Given the description of an element on the screen output the (x, y) to click on. 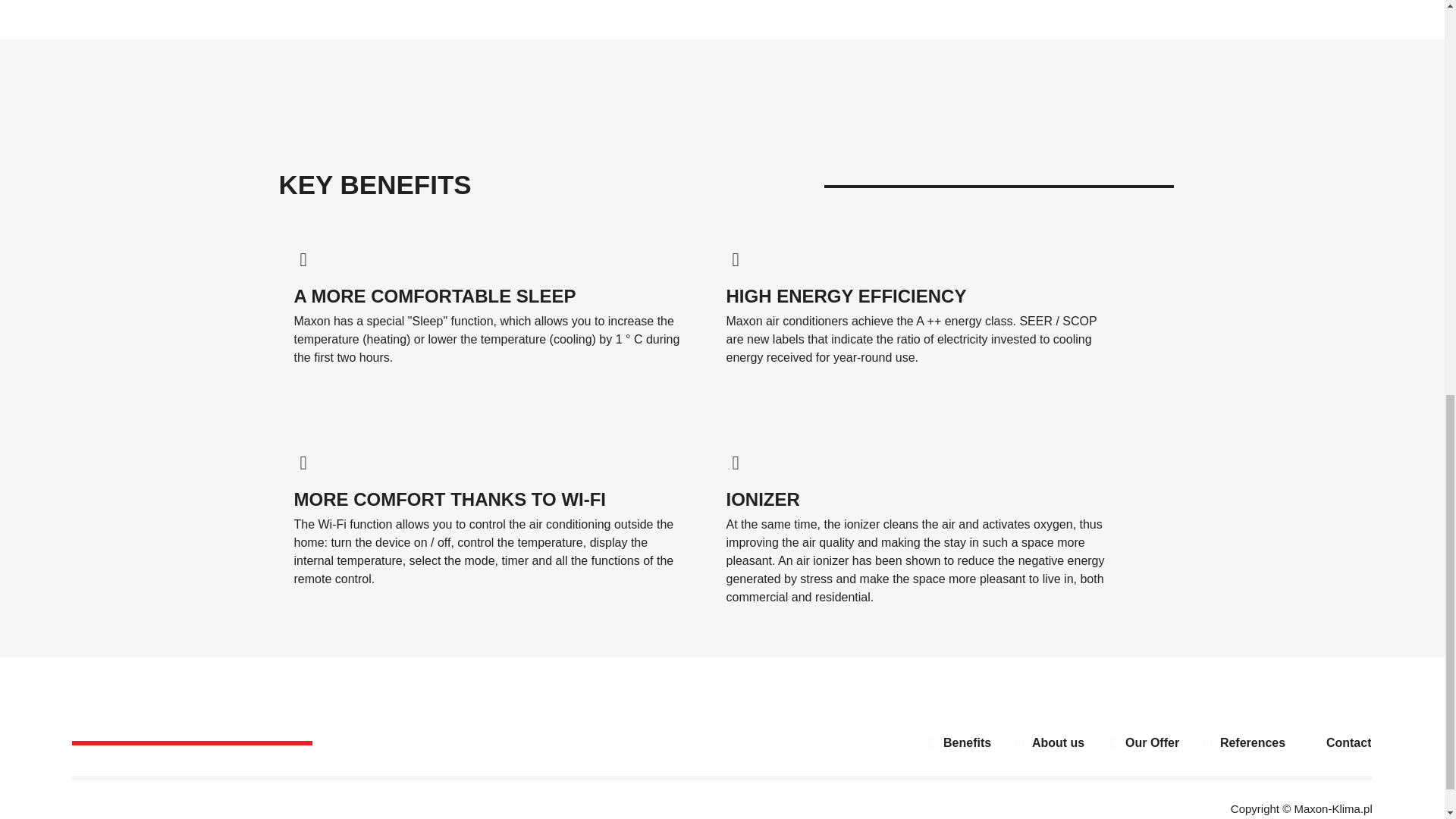
Contact (1335, 742)
Our Offer (1139, 742)
Benefits (954, 742)
References (1239, 742)
About us (1045, 742)
